Given the description of an element on the screen output the (x, y) to click on. 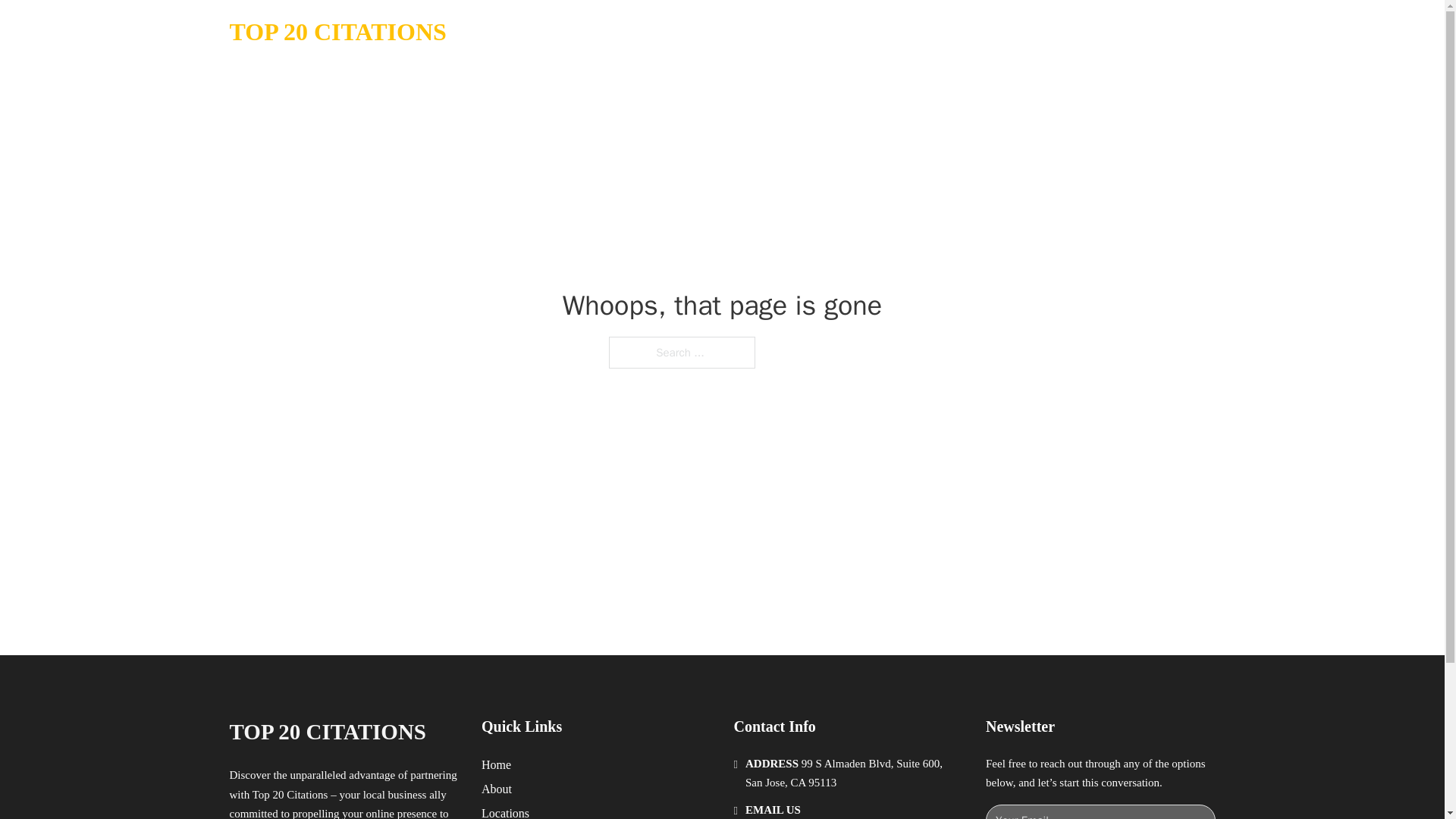
Home (496, 764)
TOP 20 CITATIONS (326, 732)
LOCATIONS (1098, 31)
About (496, 788)
Locations (505, 811)
TOP 20 CITATIONS (336, 31)
HOME (1025, 31)
